Given the description of an element on the screen output the (x, y) to click on. 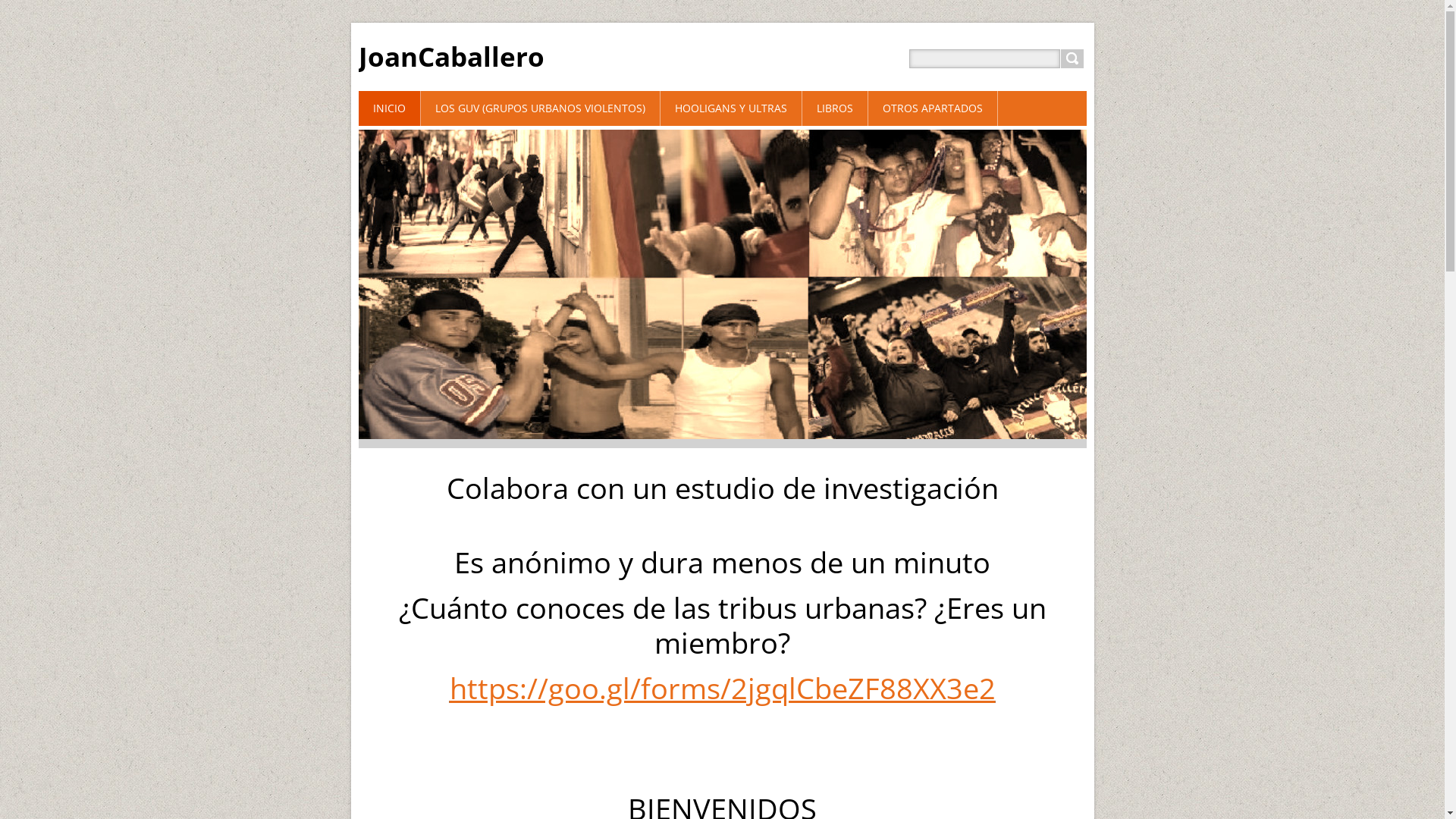
Cerca Element type: text (1071, 58)
LOS GUV (GRUPOS URBANOS VIOLENTOS) Element type: text (539, 108)
OTROS APARTADOS Element type: text (932, 108)
https://goo.gl/forms/2jgqlCbeZF88XX3e2 Element type: text (721, 687)
LIBROS Element type: text (835, 108)
INICIO Element type: text (388, 108)
HOOLIGANS Y ULTRAS Element type: text (730, 108)
